Given the description of an element on the screen output the (x, y) to click on. 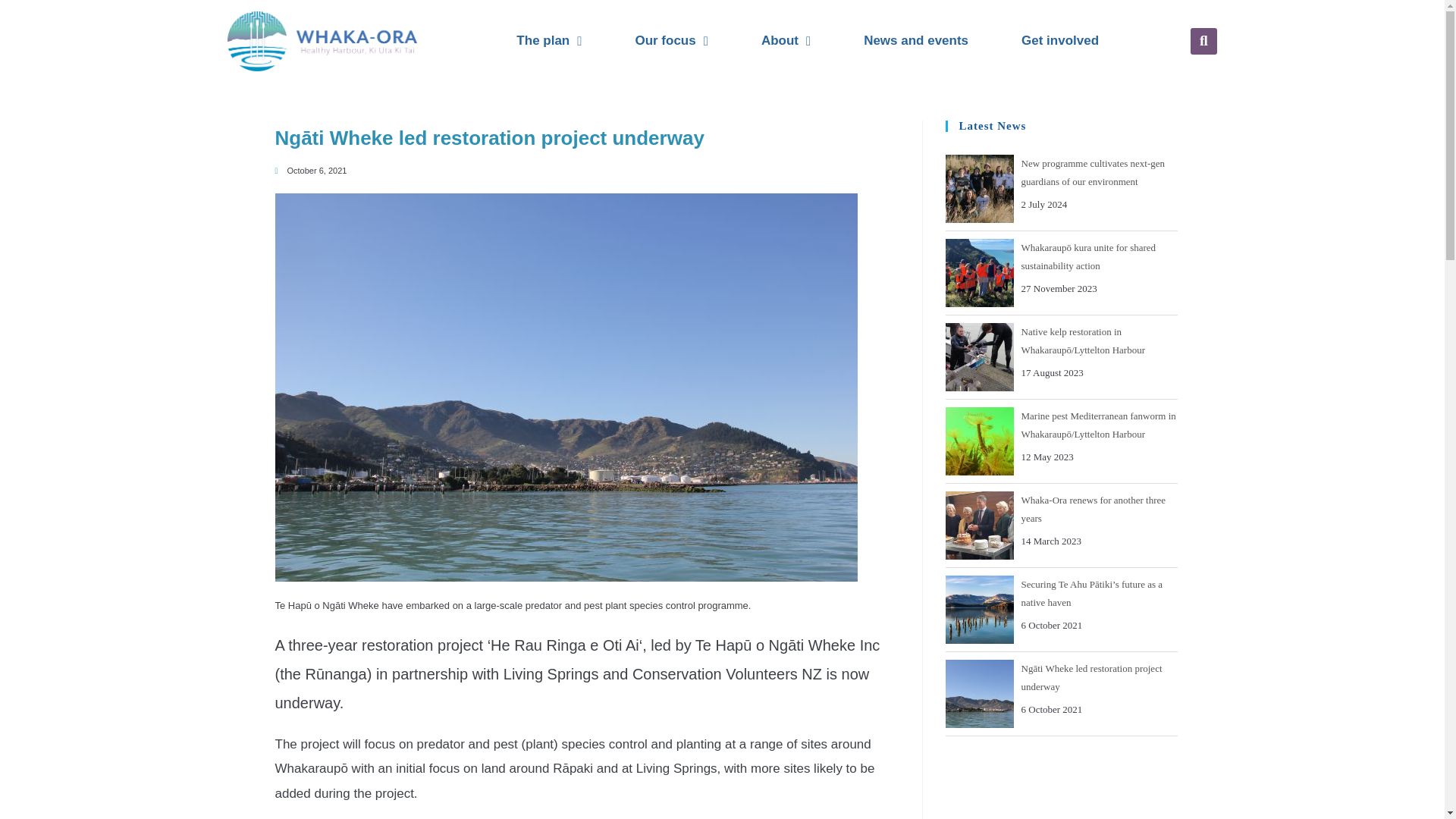
News and events (915, 40)
Whaka-Ora renews for another three years (1093, 509)
Our focus (670, 40)
About (786, 40)
Whaka-Ora renews for another three years (1093, 509)
Whaka-Ora renews for another three years (978, 525)
Get involved (1059, 40)
